Given the description of an element on the screen output the (x, y) to click on. 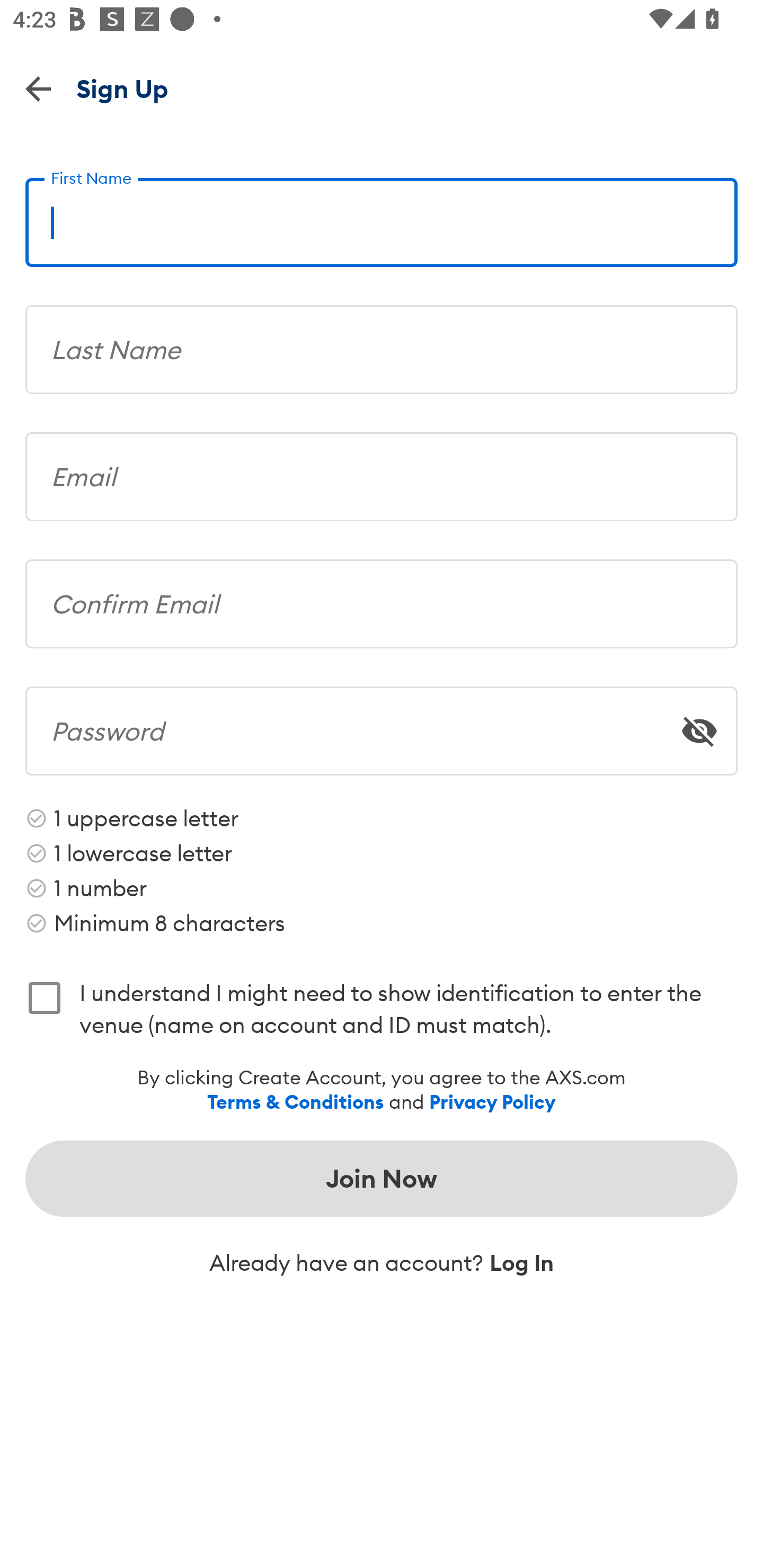
Back (38, 88)
First Name (381, 215)
Last Name (381, 342)
Email (381, 470)
Confirm Email (381, 598)
Password (381, 725)
Terms & Conditions (295, 1101)
Privacy Policy (491, 1101)
Join Now (381, 1177)
Log In (521, 1262)
